Given the description of an element on the screen output the (x, y) to click on. 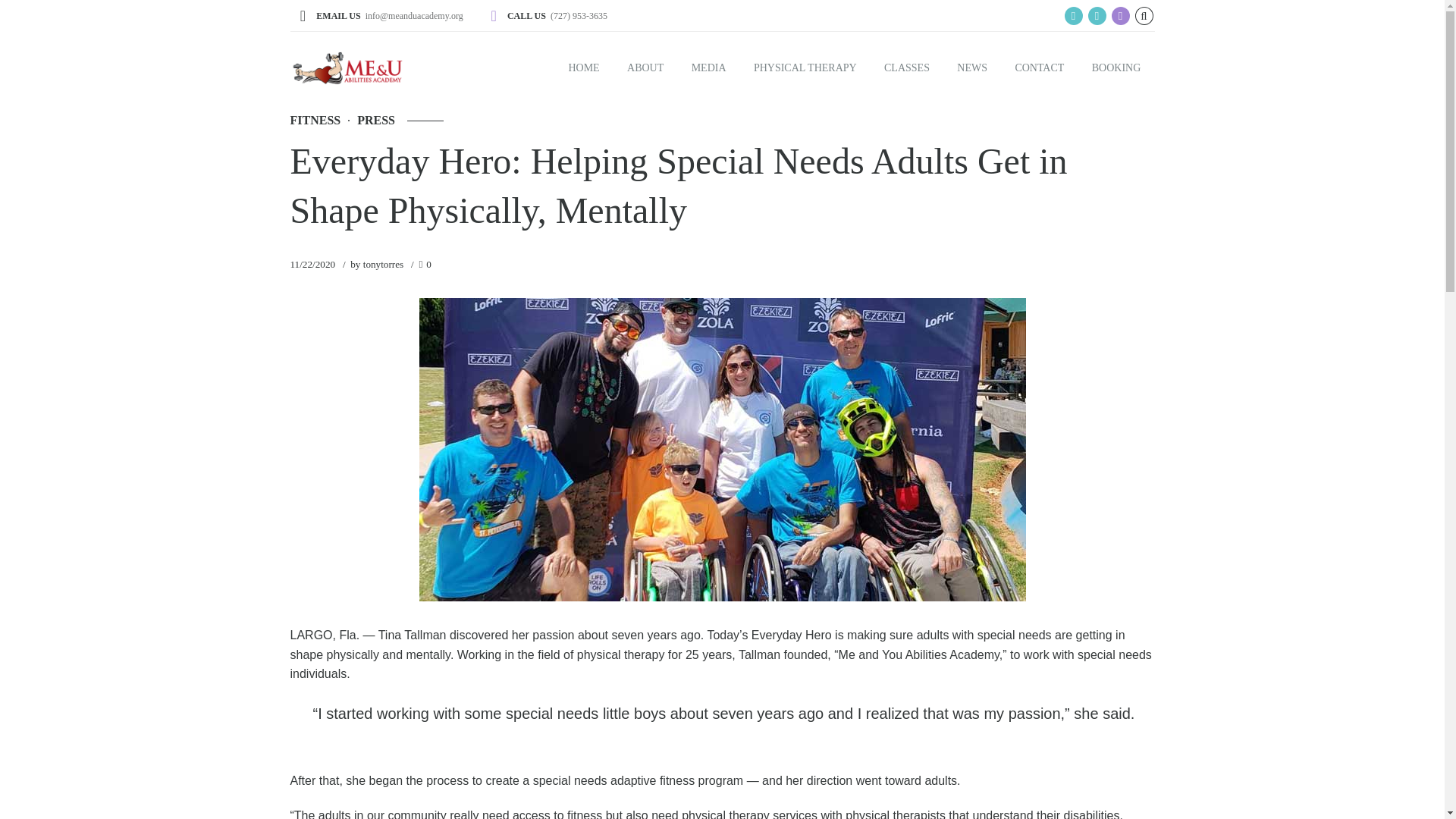
CLASSES (906, 68)
CONTACT (1039, 68)
HOME (583, 68)
BOOKING (1116, 68)
NEWS (972, 68)
PRESS (367, 120)
MEDIA (708, 68)
0 (424, 264)
